Given the description of an element on the screen output the (x, y) to click on. 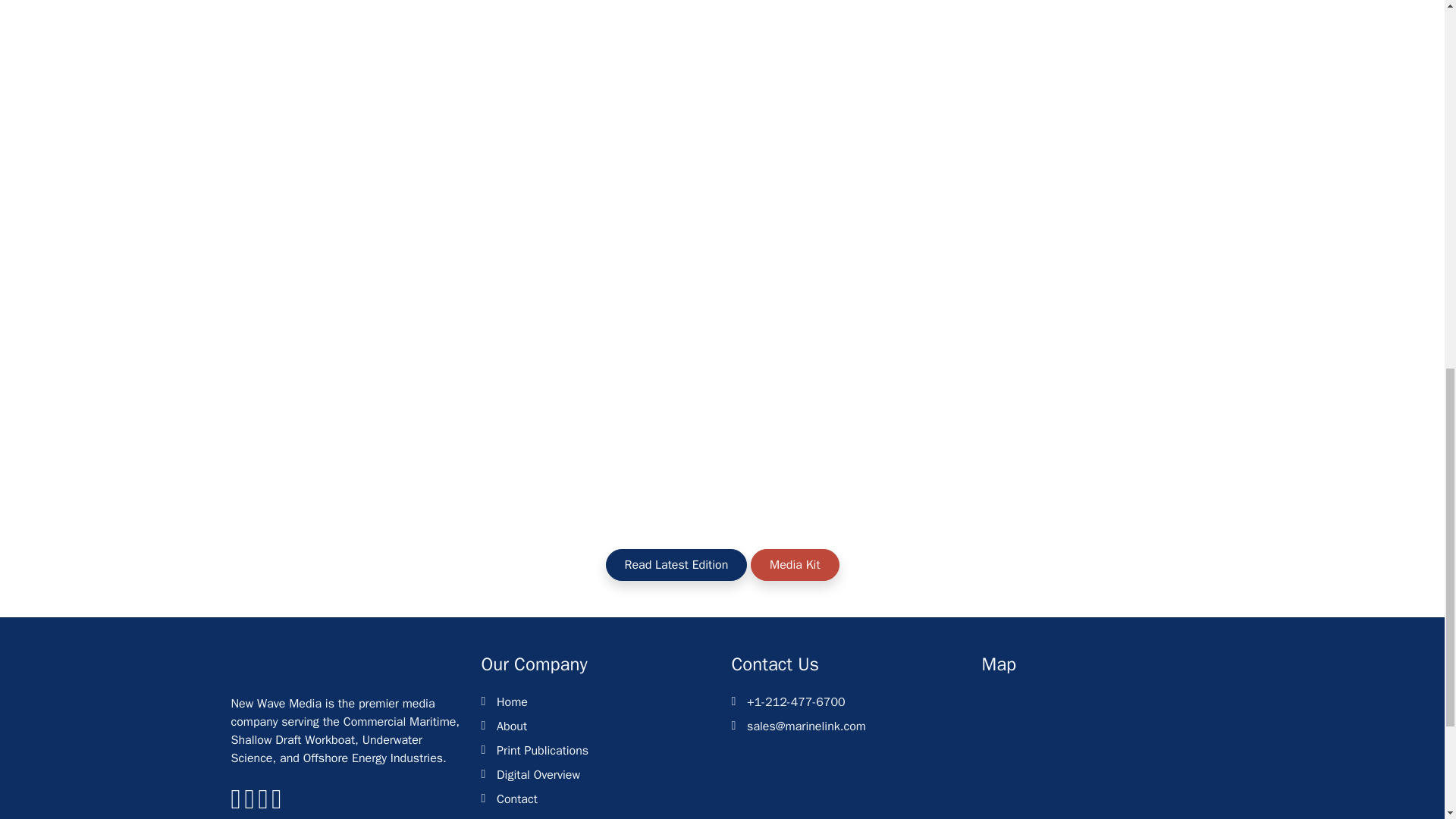
About (511, 726)
Digital Overview (537, 774)
Home (511, 702)
Media Kit (794, 564)
Contact (516, 798)
Print Publications (542, 750)
Read Latest Edition (675, 564)
